Given the description of an element on the screen output the (x, y) to click on. 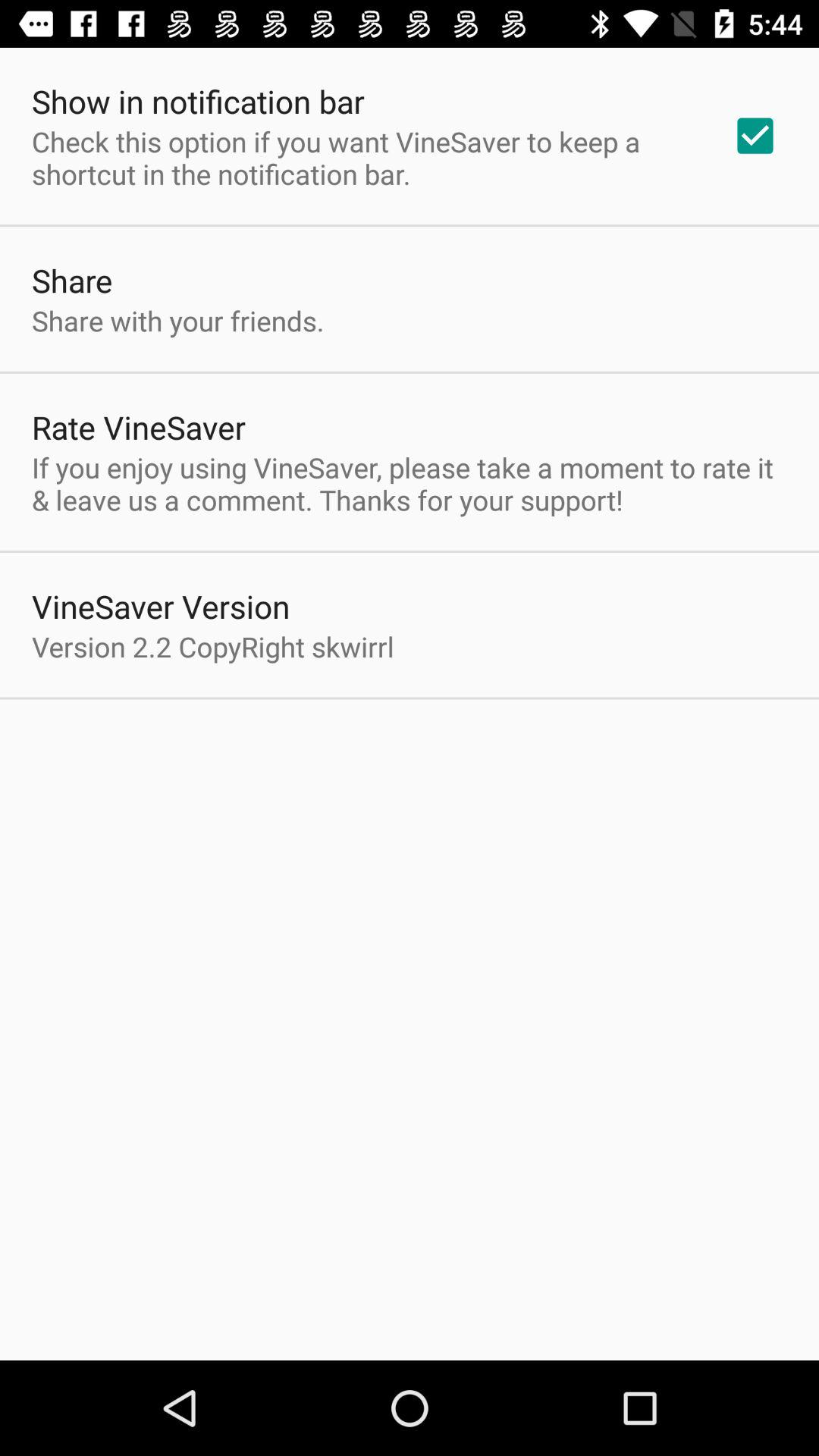
open item above the share icon (361, 157)
